Given the description of an element on the screen output the (x, y) to click on. 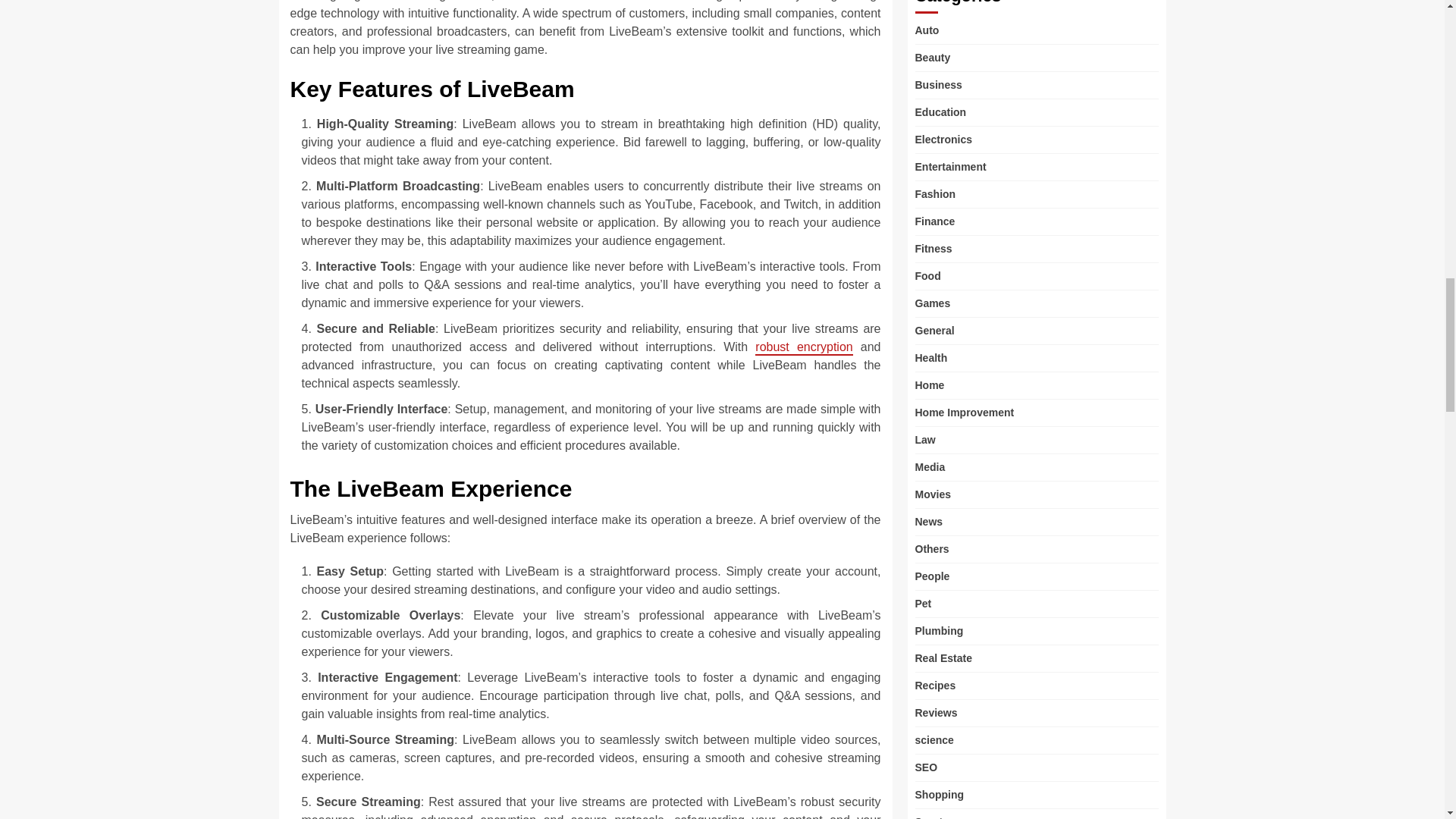
robust encryption (803, 347)
